Given the description of an element on the screen output the (x, y) to click on. 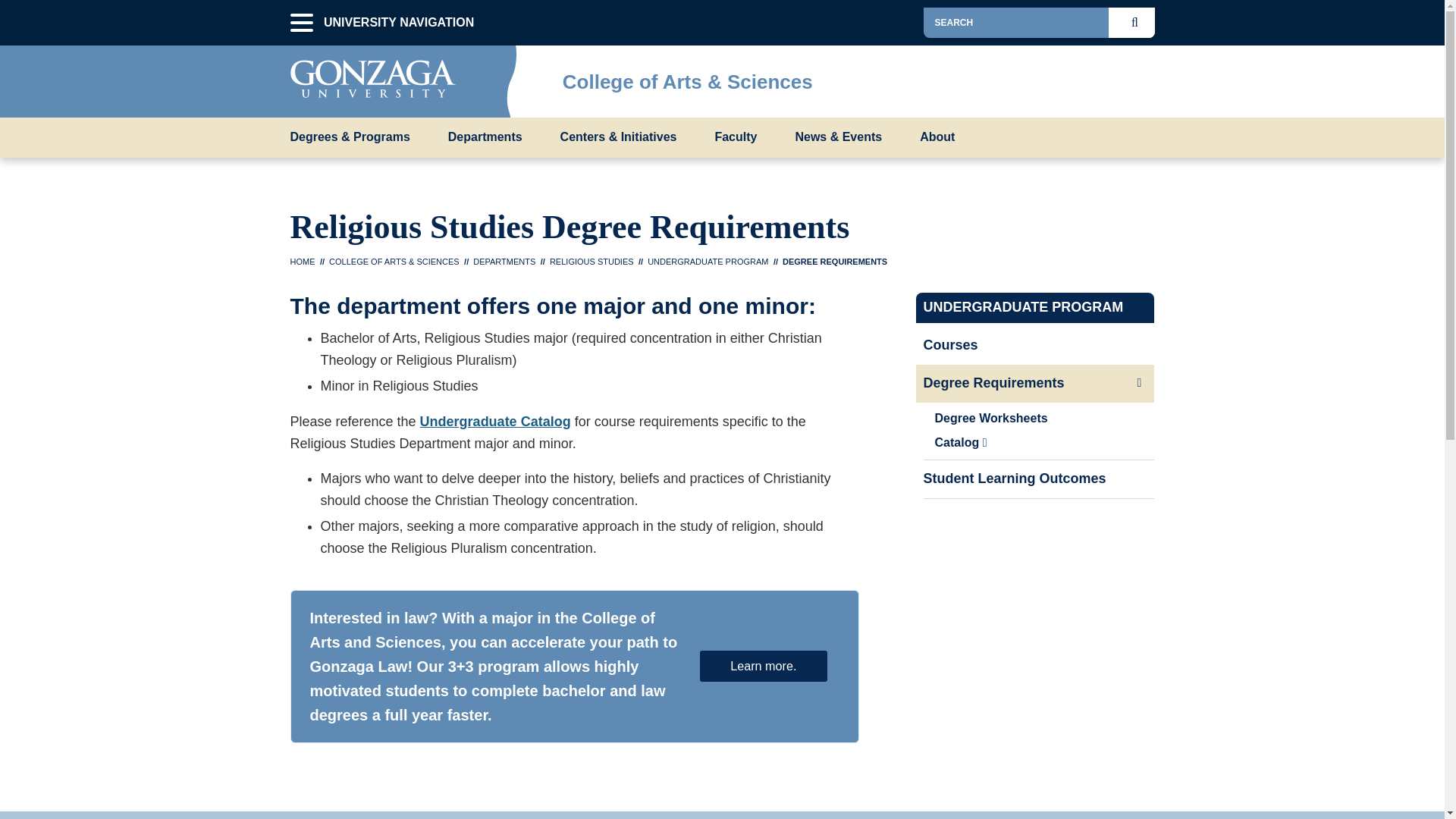
SEARCH BUTTON (1137, 22)
Toggle Menu (1142, 77)
UNIVERSITY NAVIGATION (301, 22)
